Given the description of an element on the screen output the (x, y) to click on. 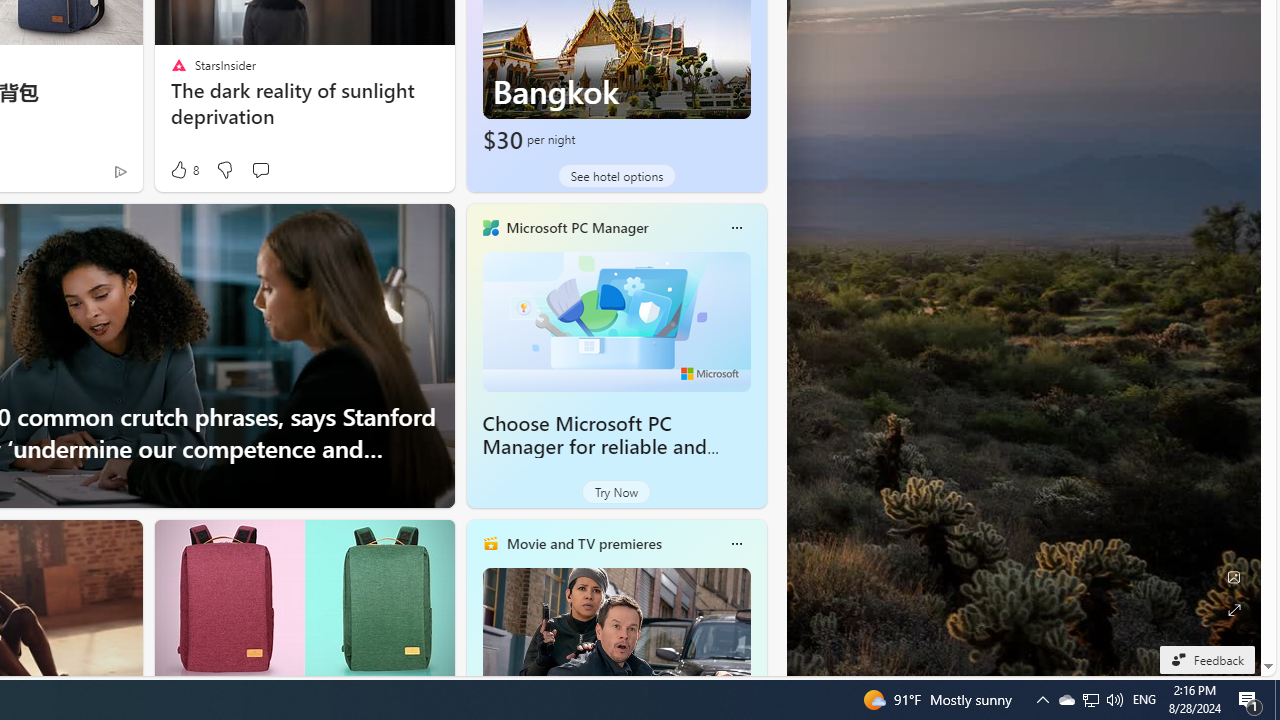
See hotel options (615, 175)
Microsoft PC Manager (576, 227)
8 Like (183, 170)
Try Now (616, 491)
Expand background (1233, 610)
Edit Background (1233, 577)
Movie and TV premieres (583, 543)
